Given the description of an element on the screen output the (x, y) to click on. 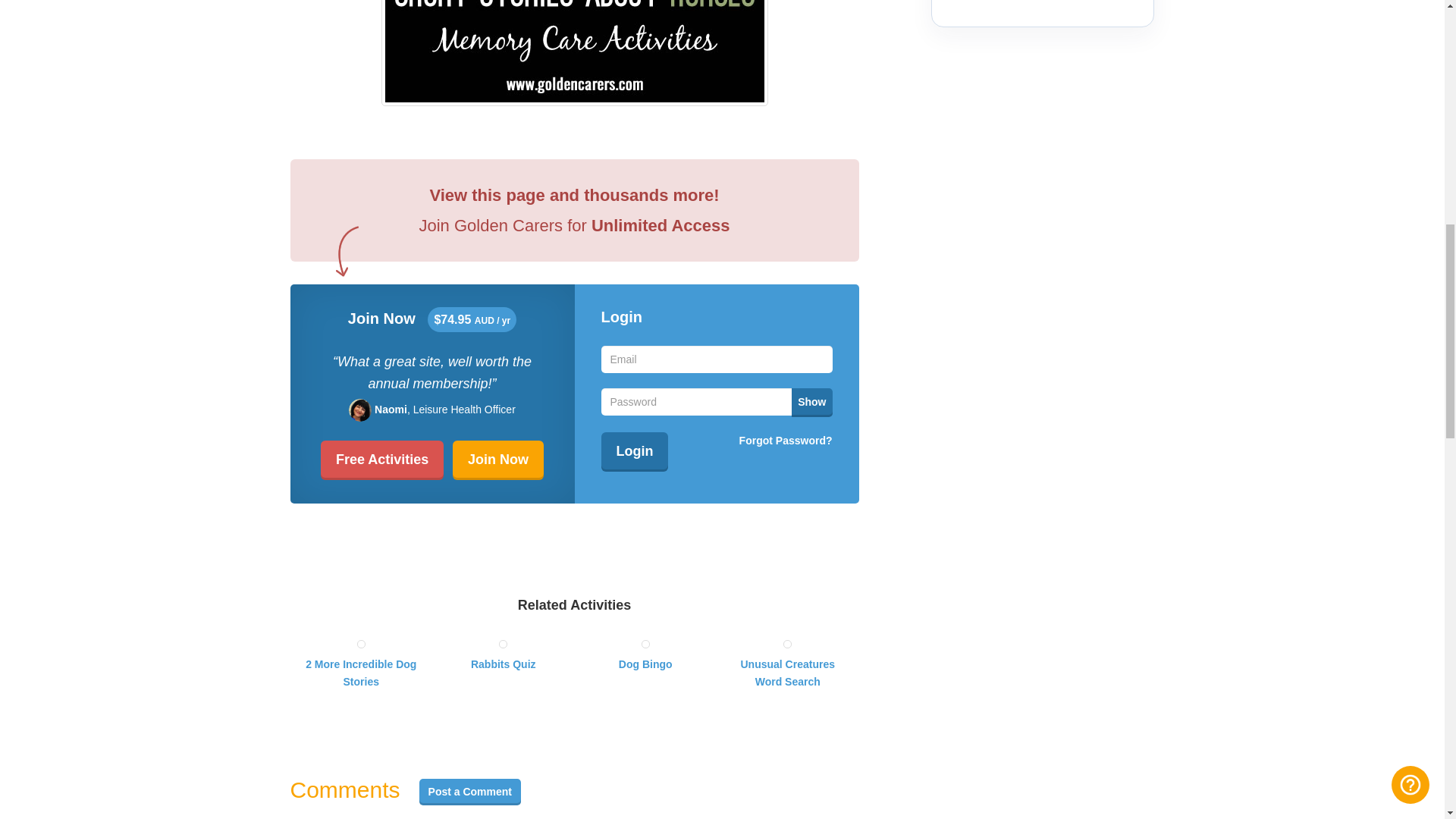
Free Activities (382, 459)
Unusual Creatures Word Search (787, 663)
Reset your password (785, 440)
Show (811, 402)
Rabbits Quiz (503, 654)
2 More Incredible Dog Stories (361, 663)
Rabbits Quiz (503, 654)
Free Activities (382, 459)
2 More Incredible Dog Stories (361, 663)
Post a Comment (470, 791)
Dog Bingo (644, 654)
Login (633, 451)
Post a Comment (470, 791)
Dog Bingo (644, 654)
Unusual Creatures Word Search (787, 663)
